Given the description of an element on the screen output the (x, y) to click on. 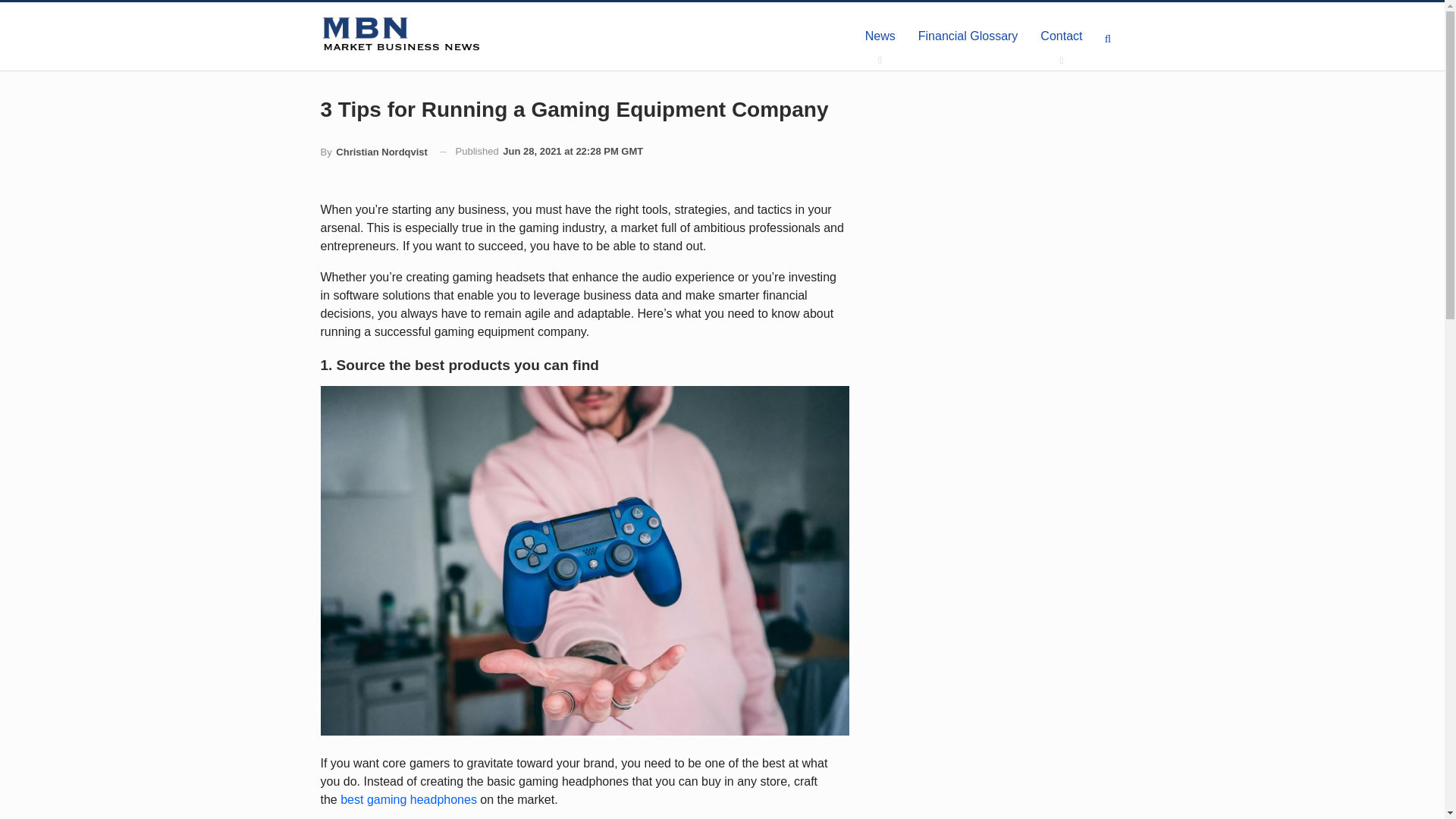
By Christian Nordqvist (373, 152)
Financial Glossary (968, 36)
Browse Author Articles (373, 152)
best gaming headphones (408, 799)
Contact (1061, 36)
